Given the description of an element on the screen output the (x, y) to click on. 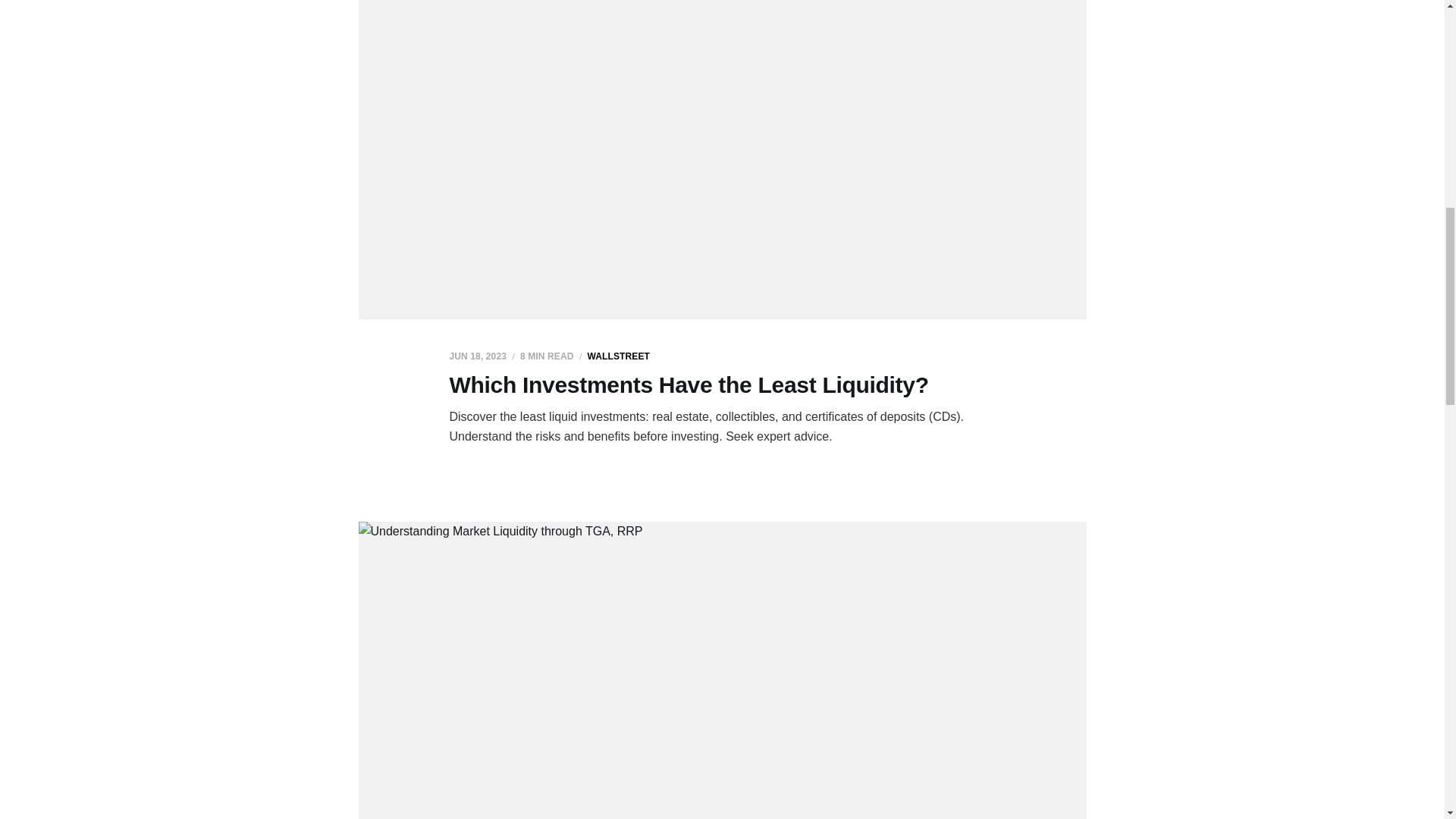
Wallstreet (617, 356)
WALLSTREET (617, 356)
Which Investments Have the Least Liquidity? (688, 384)
